Given the description of an element on the screen output the (x, y) to click on. 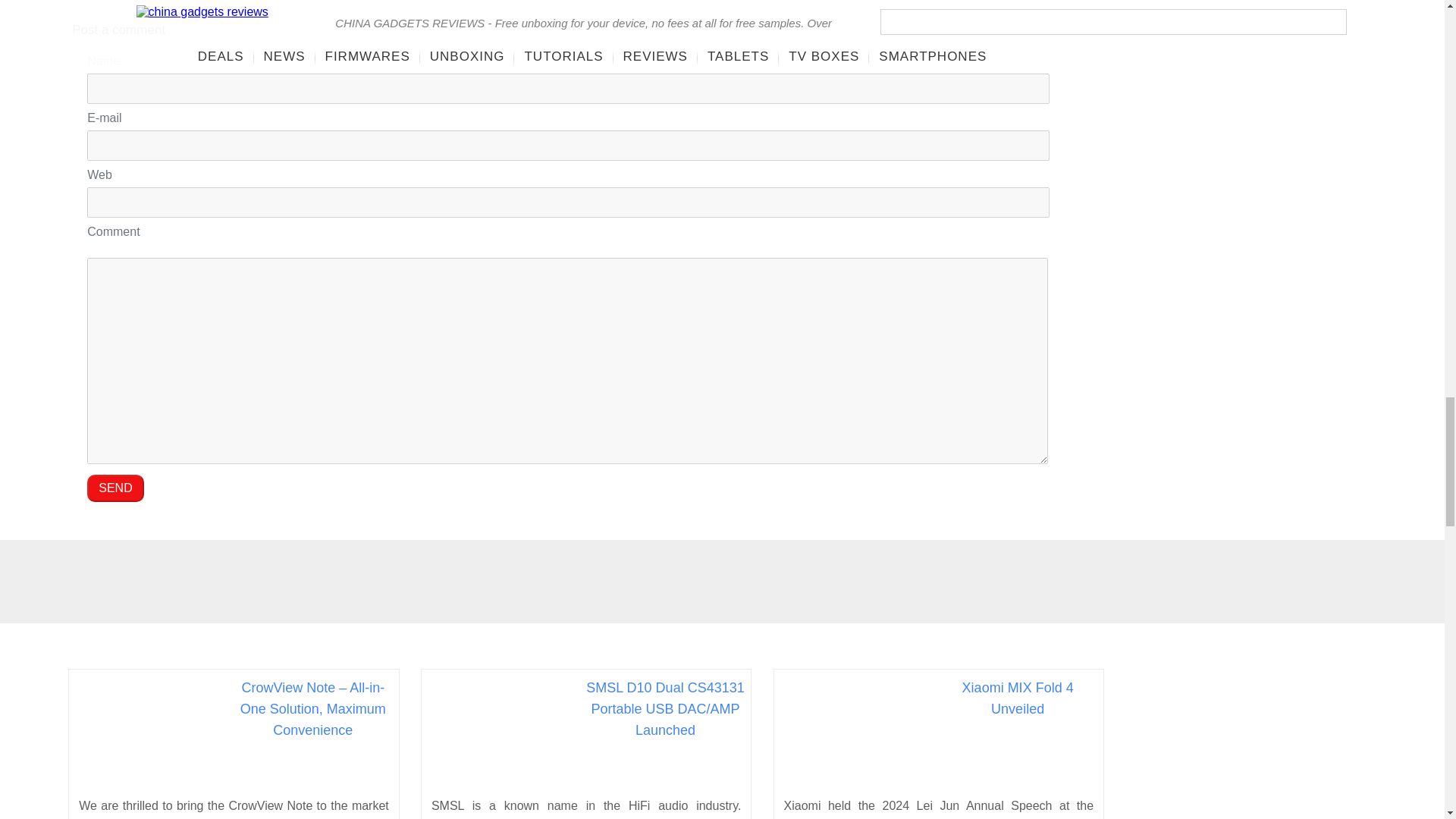
SEND (114, 488)
SEND (114, 488)
